Given the description of an element on the screen output the (x, y) to click on. 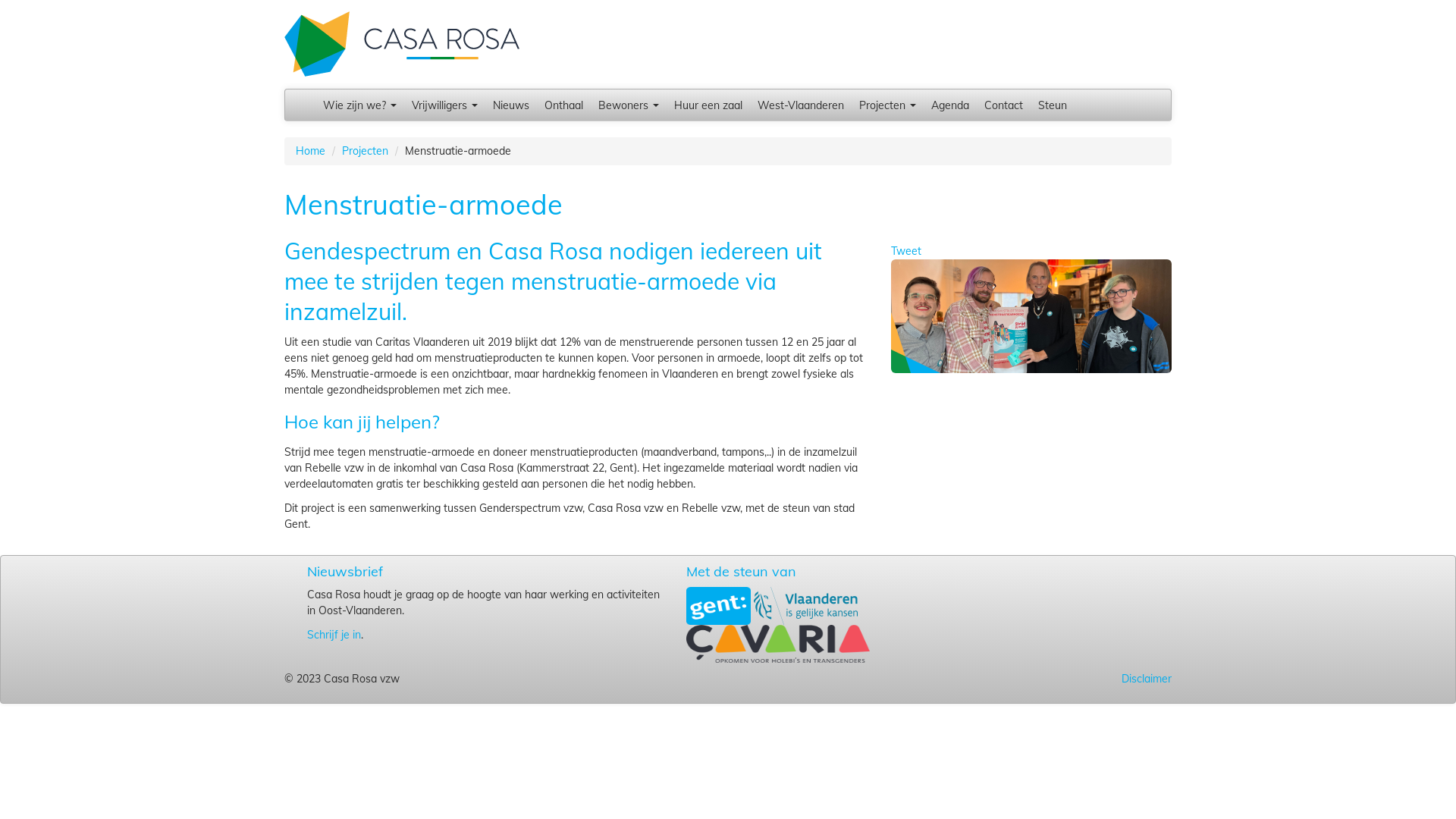
Nieuws Element type: text (510, 104)
Menstruatie-armoede Element type: hover (1031, 316)
Schrijf je in Element type: text (333, 634)
Disclaimer Element type: text (879, 678)
Huur een zaal Element type: text (707, 104)
Projecten Element type: text (887, 104)
Projecten Element type: text (365, 150)
Home Element type: hover (401, 43)
Contact Element type: text (1003, 104)
Bewoners Element type: text (628, 104)
Home Element type: text (310, 150)
Wie zijn we? Element type: text (359, 104)
Overslaan en naar de algemene inhoud gaan Element type: text (109, 0)
Vrijwilligers Element type: text (444, 104)
Menstruatie-armoede Element type: hover (1031, 315)
Agenda Element type: text (949, 104)
Tweet Element type: text (906, 250)
Onthaal Element type: text (563, 104)
Steun Element type: text (1052, 104)
West-Vlaanderen Element type: text (800, 104)
